Given the description of an element on the screen output the (x, y) to click on. 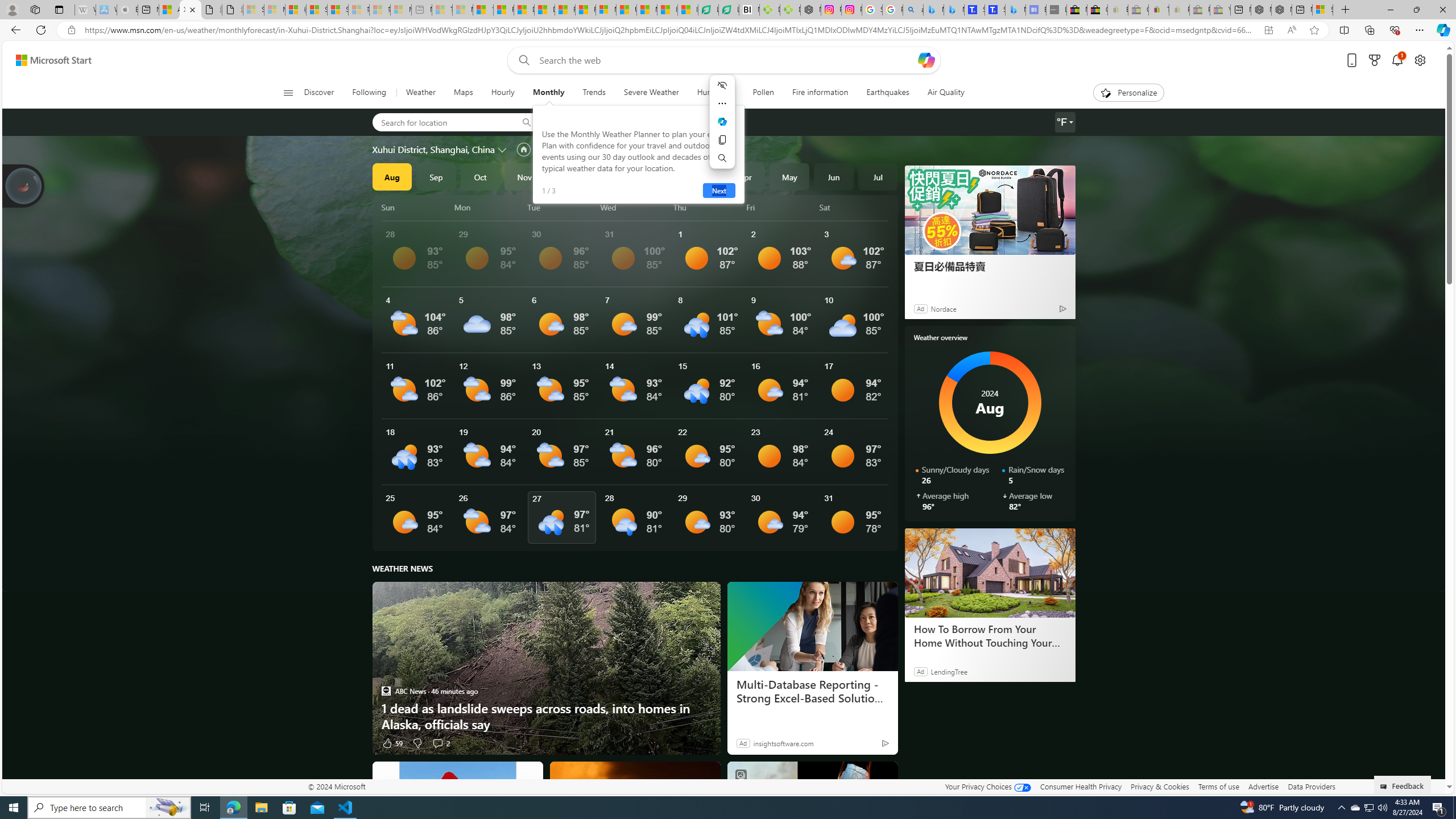
Skip to footer (46, 59)
Fire information (820, 92)
Jun (833, 176)
How To Borrow From Your Home Without Touching Your Mortgage (988, 635)
More actions (722, 103)
